Given the description of an element on the screen output the (x, y) to click on. 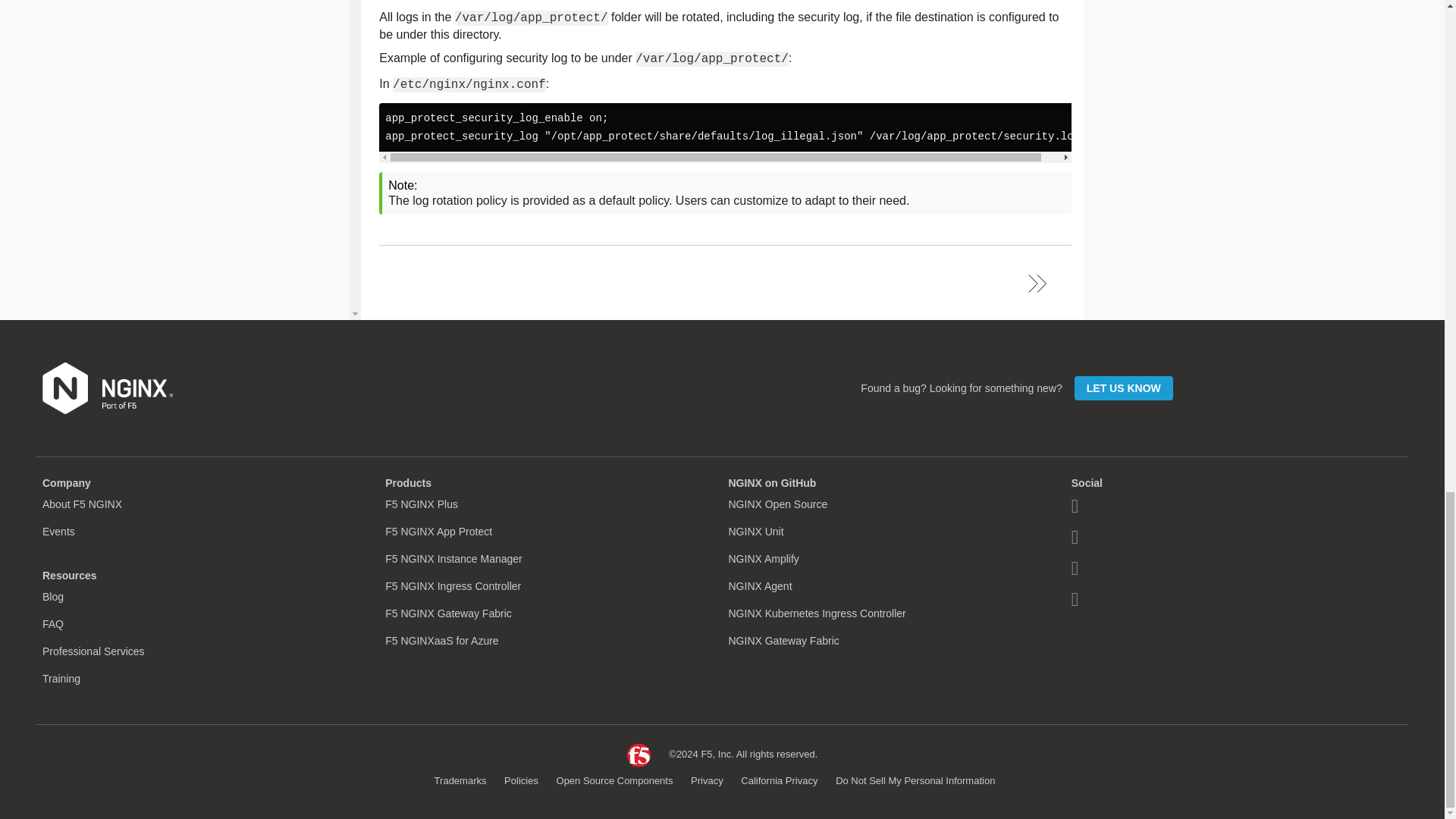
F5 NGINX Instance Manager (453, 558)
F5 NGINX Gateway Fabric (448, 613)
NGINX Amplify (762, 558)
NGINX Unit (755, 531)
F5 NGINXaaS for Azure (441, 640)
F5 NGINX Ingress Controller (453, 585)
Next -- NGINX App Protect WAF Security Log (1036, 282)
NGINX Kubernetes Ingress Controller (816, 613)
F5 NGINX Plus (421, 503)
NGINX Open Source (777, 503)
